Given the description of an element on the screen output the (x, y) to click on. 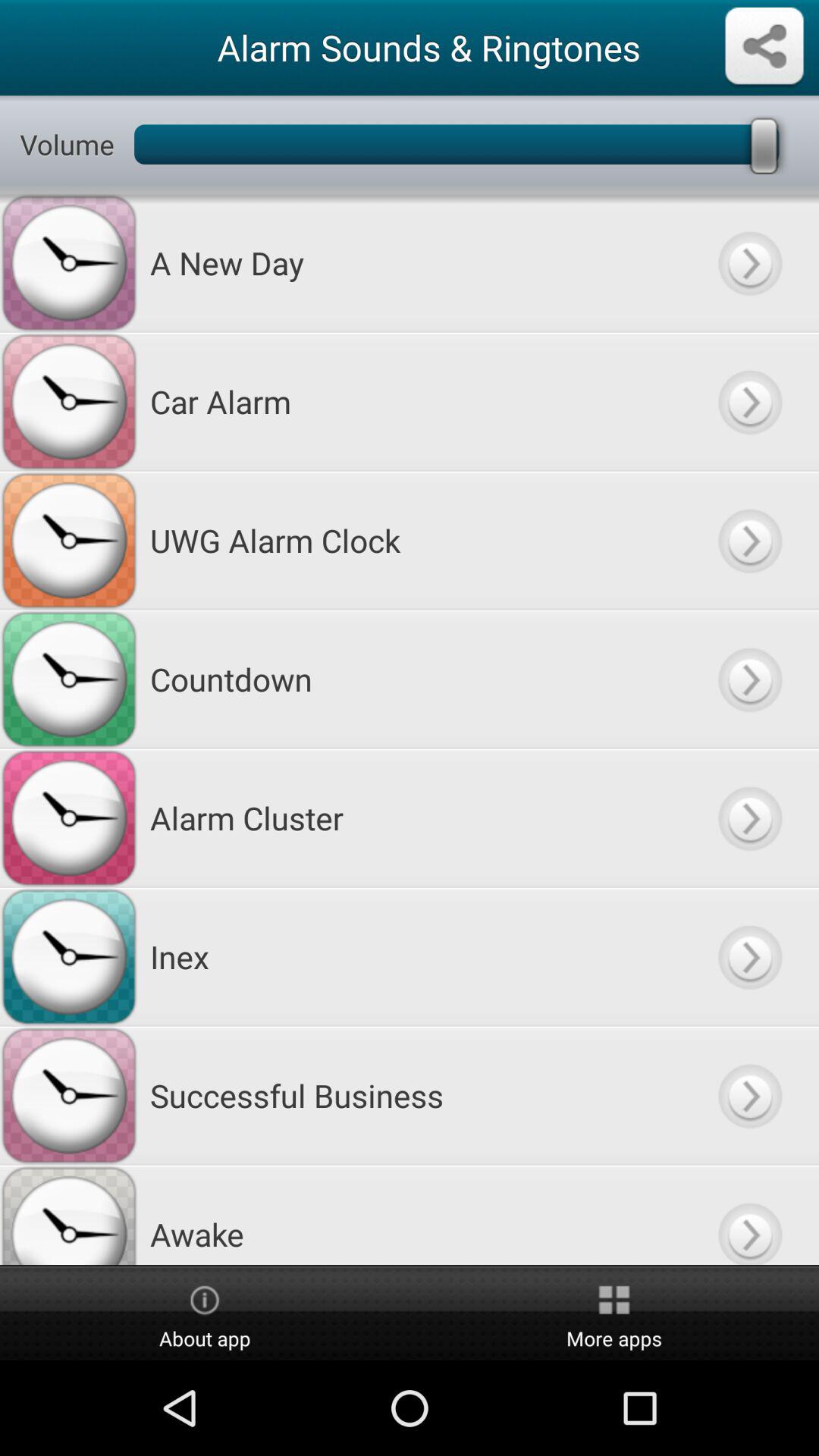
move (749, 540)
